Given the description of an element on the screen output the (x, y) to click on. 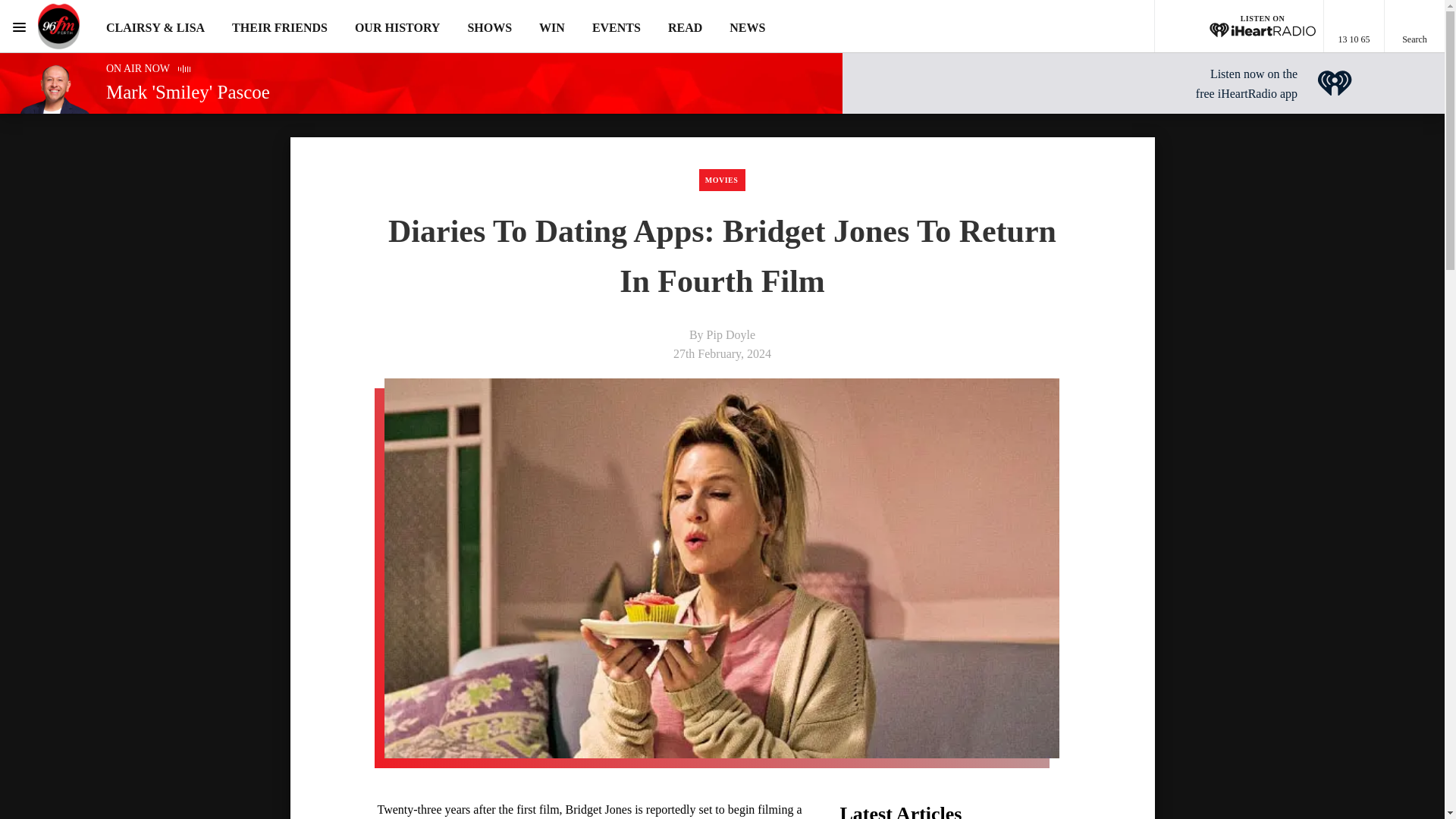
THEIR FRIENDS (279, 26)
SHOWS (489, 26)
OUR HISTORY (398, 26)
EVENTS (616, 26)
NEWS (747, 26)
iHeart (1334, 82)
READ (684, 26)
13 10 65 (1353, 26)
LISTEN ON (1238, 26)
WIN (551, 26)
